Given the description of an element on the screen output the (x, y) to click on. 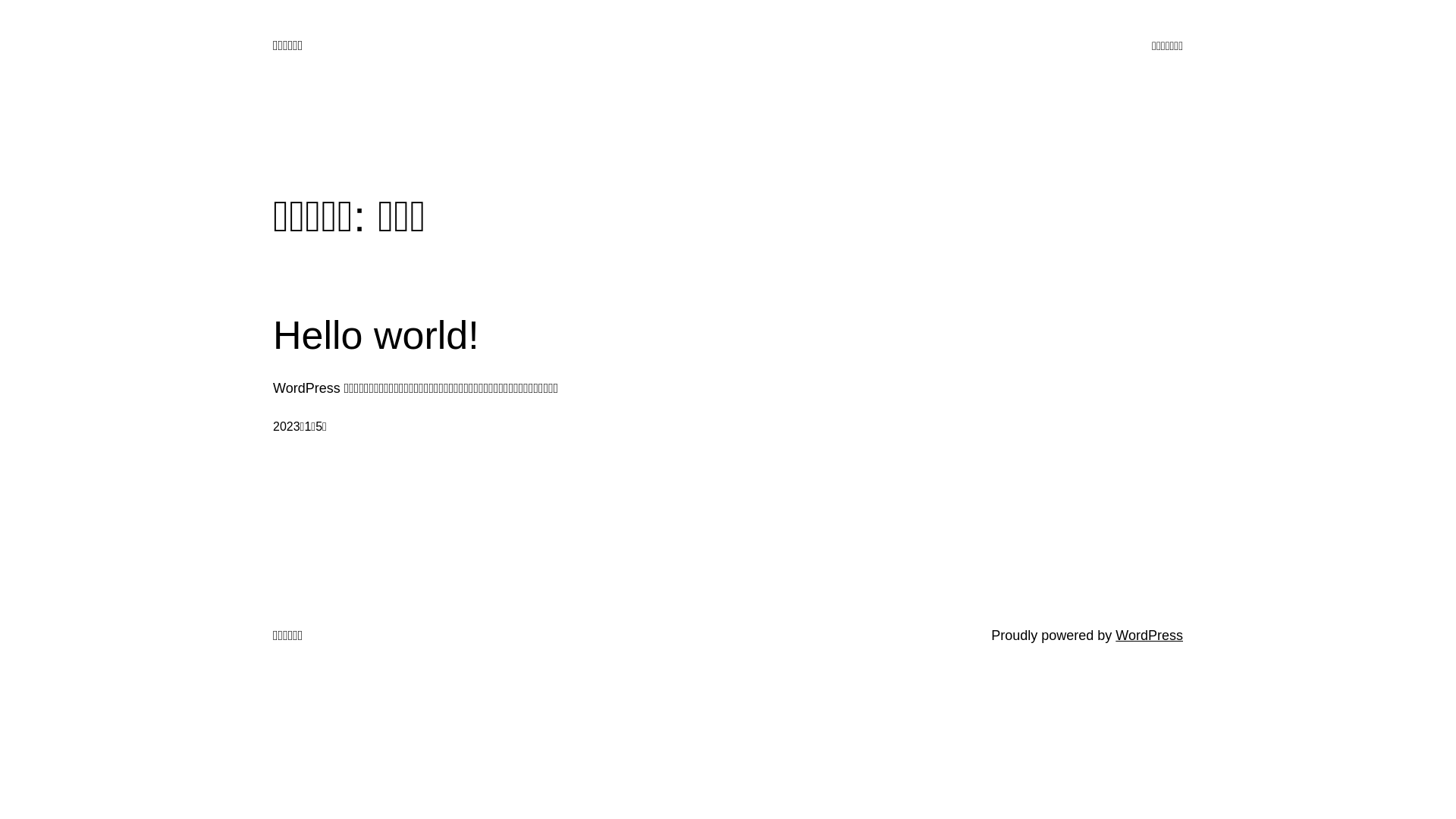
Hello world! Element type: text (376, 334)
WordPress Element type: text (1149, 635)
